Given the description of an element on the screen output the (x, y) to click on. 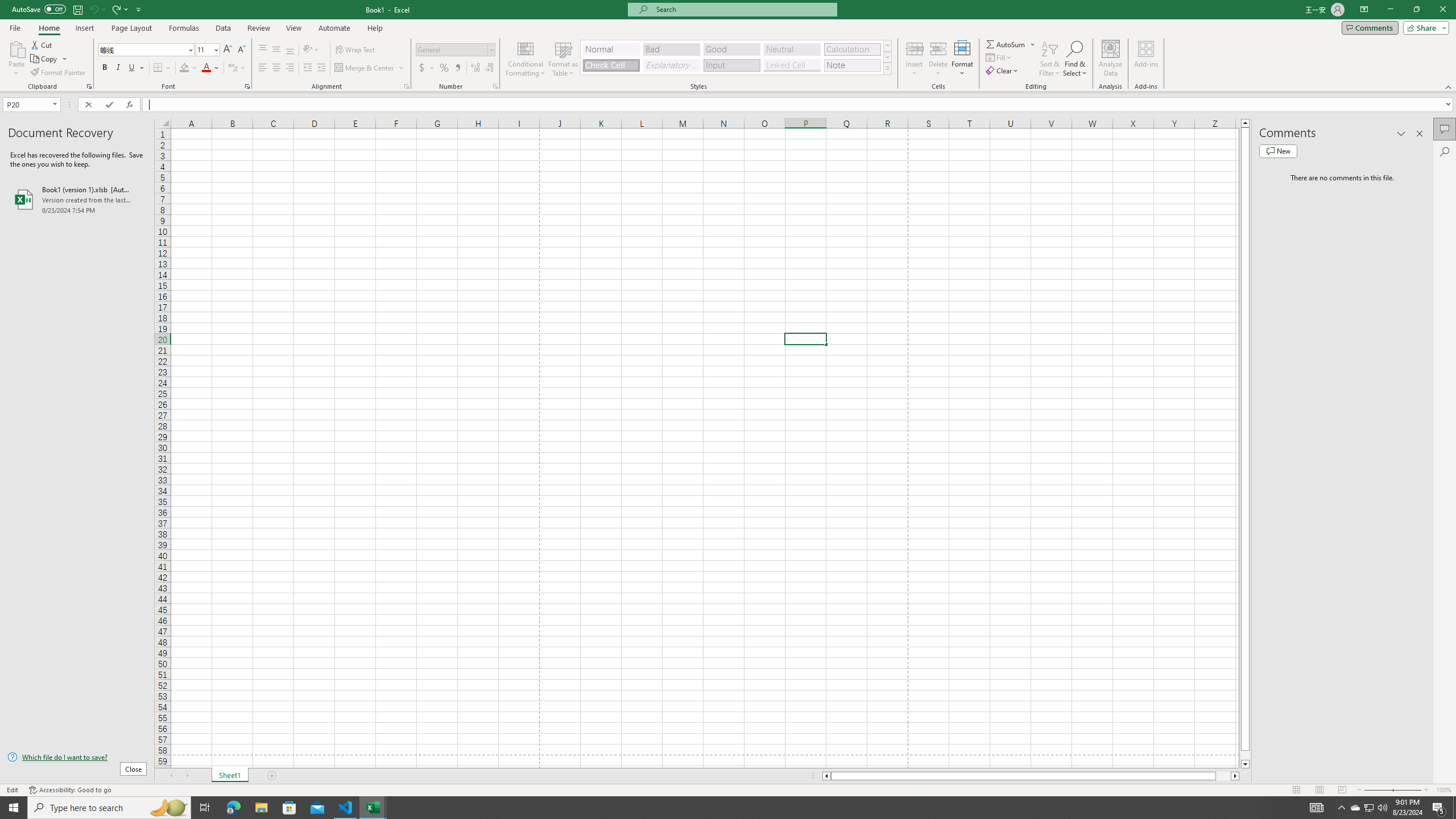
Show Phonetic Field (236, 67)
Font (147, 49)
Input (731, 65)
Delete (938, 58)
New comment (1278, 151)
Fill Color (188, 67)
AutomationID: CellStylesGallery (736, 57)
Merge & Center (369, 67)
